Given the description of an element on the screen output the (x, y) to click on. 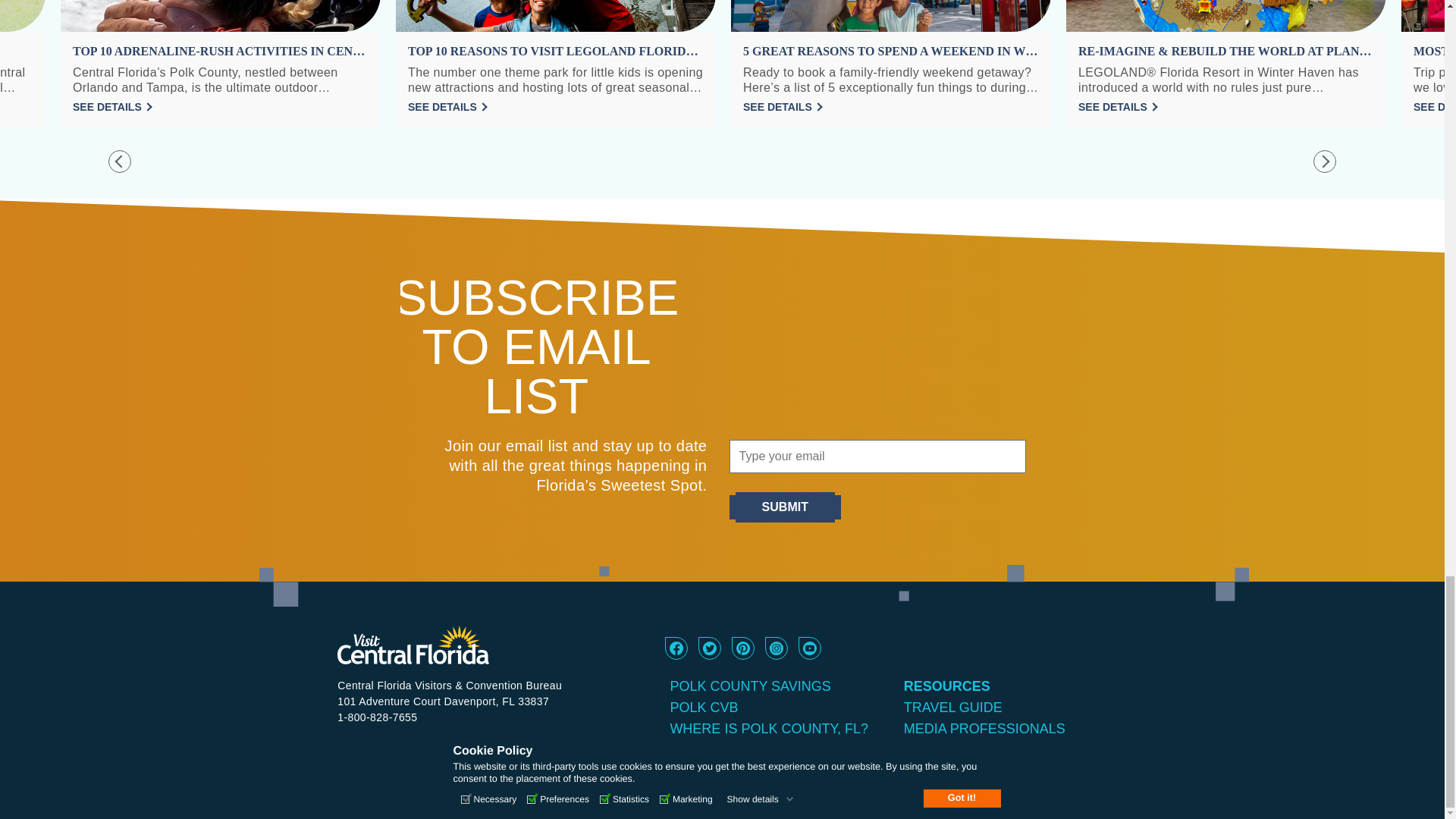
Submit (784, 507)
